Given the description of an element on the screen output the (x, y) to click on. 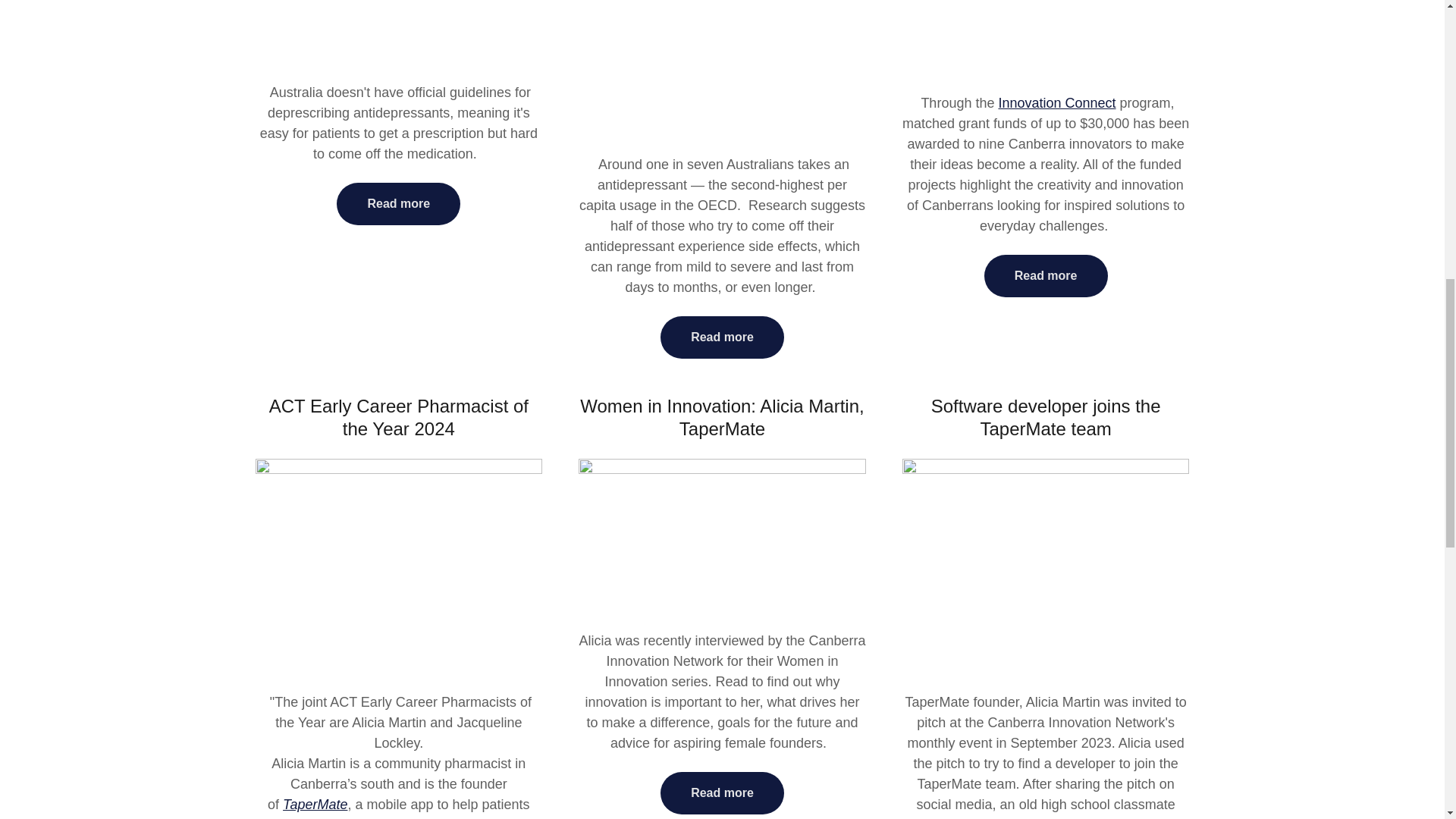
Read more (722, 337)
Read more (1046, 275)
Innovation Connect (1056, 102)
TaperMate (314, 804)
Read more (398, 203)
Read more (722, 793)
